Given the description of an element on the screen output the (x, y) to click on. 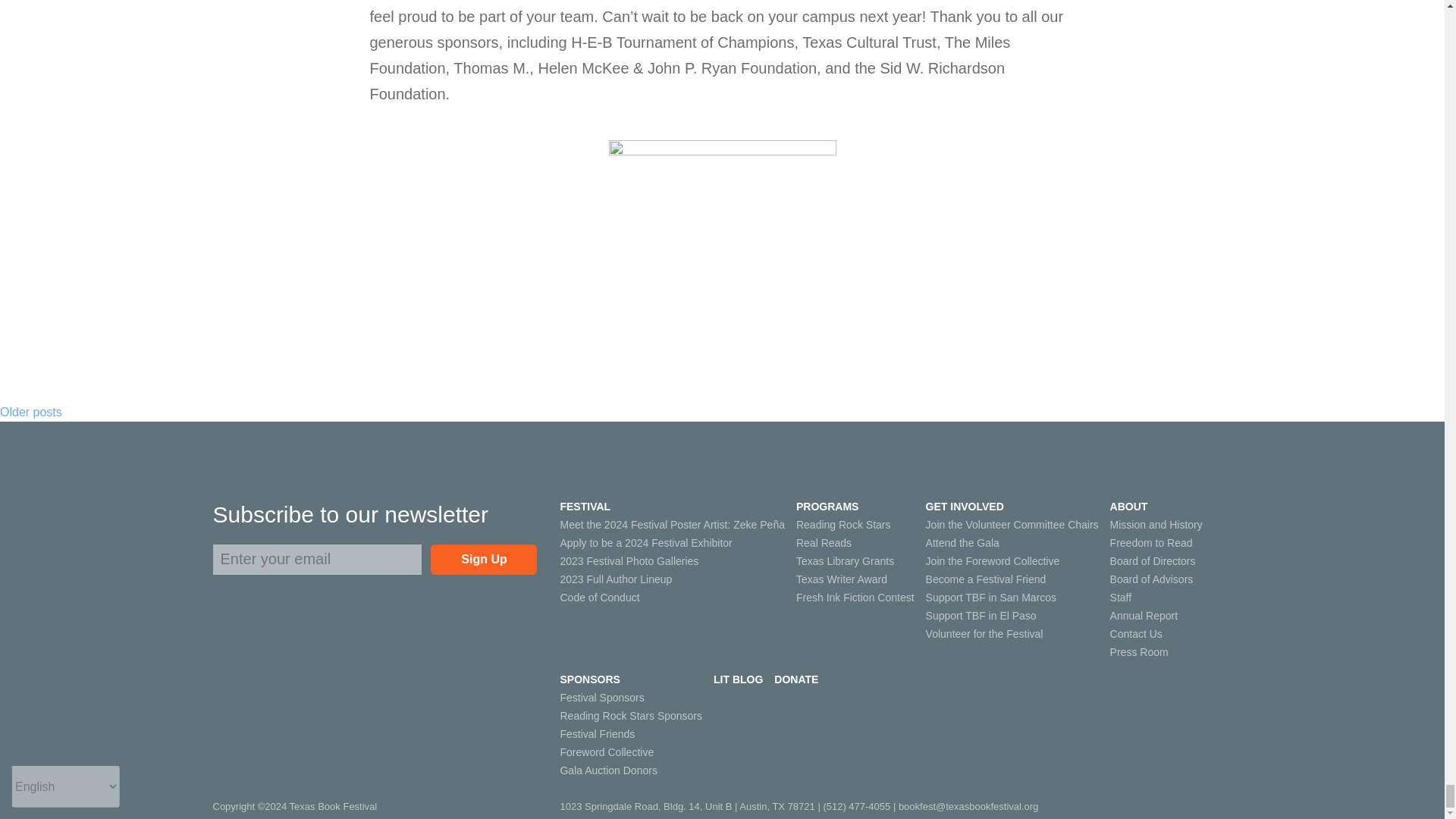
Sign Up (483, 559)
